Given the description of an element on the screen output the (x, y) to click on. 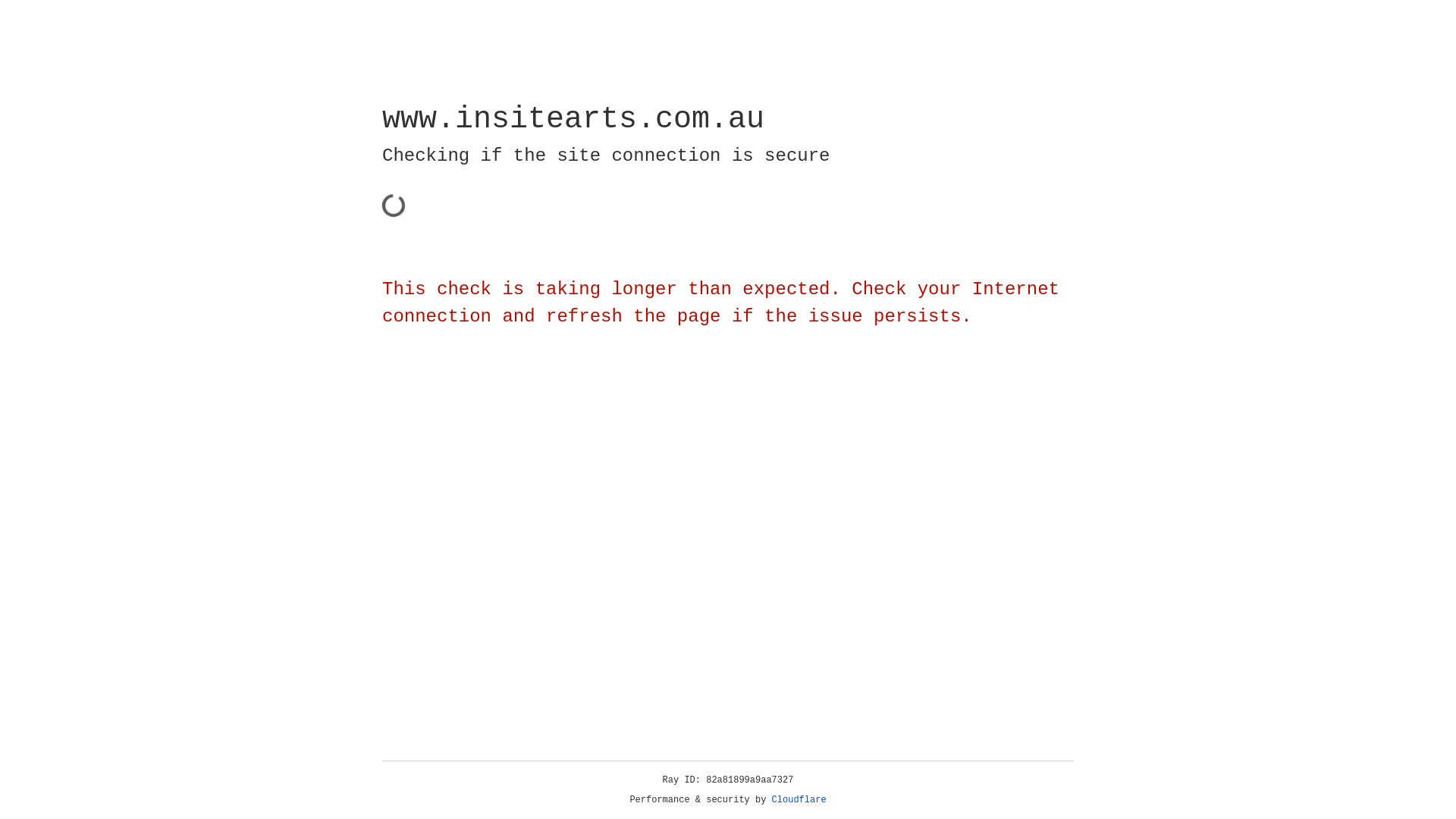
Cloudflare Element type: text (798, 799)
